Given the description of an element on the screen output the (x, y) to click on. 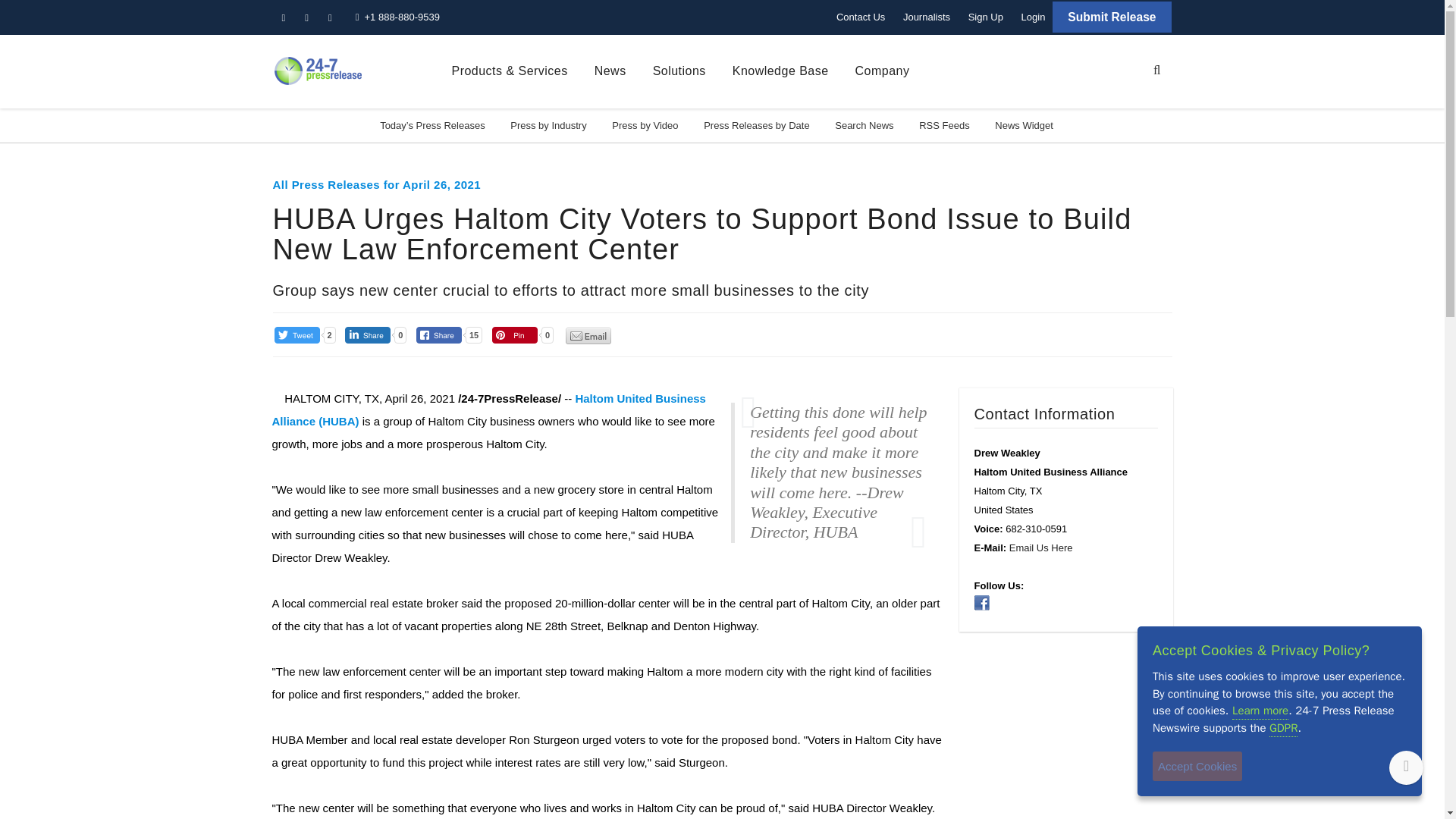
Sign Up (985, 16)
Solutions (679, 71)
Journalists (926, 16)
Contact Us (860, 16)
Knowledge Base (780, 71)
Login (1032, 16)
Submit Release (1111, 16)
Company (882, 71)
